Given the description of an element on the screen output the (x, y) to click on. 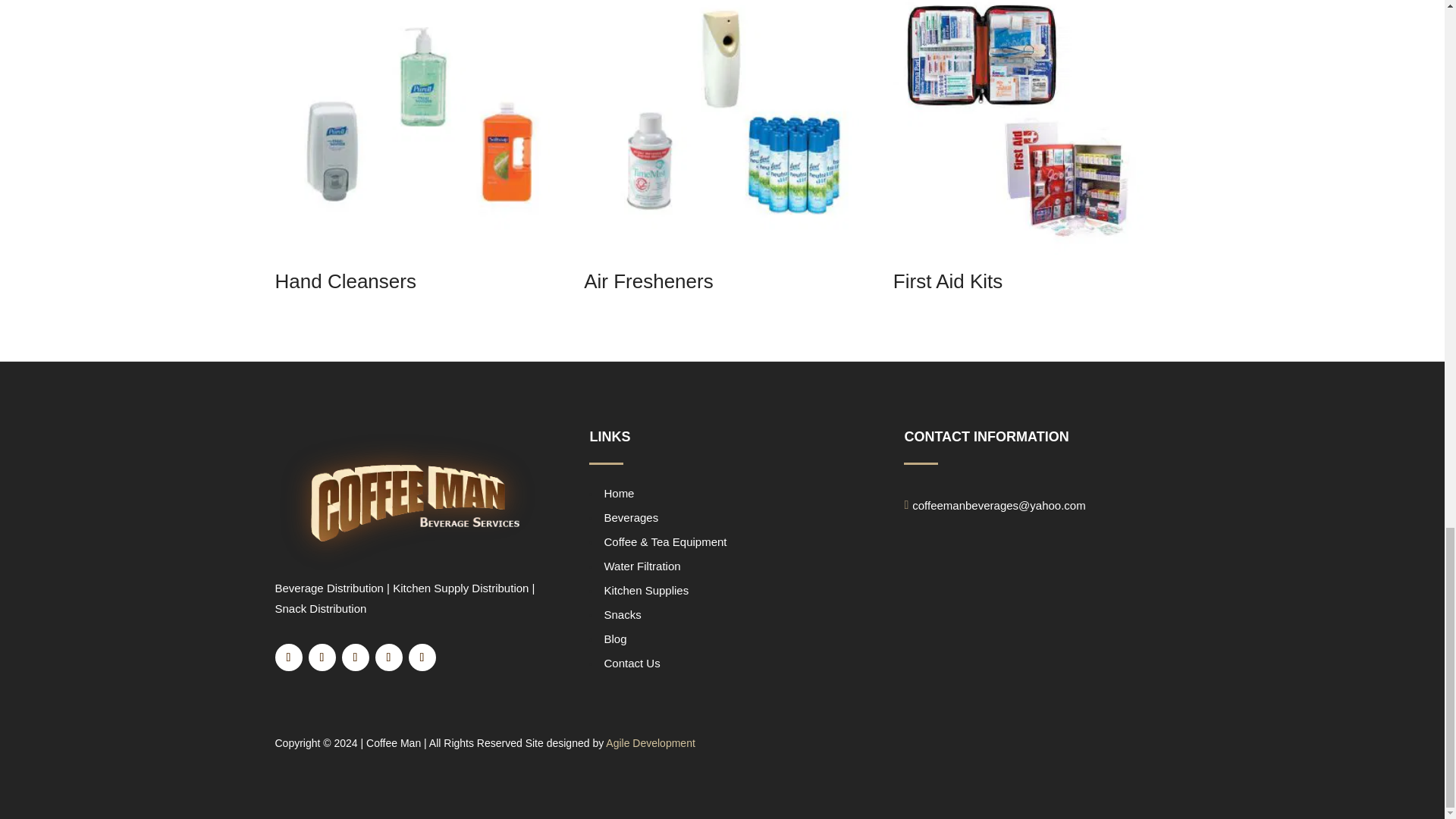
Air Fresheners (721, 150)
Water Filtration (641, 565)
Agile Development (650, 743)
Hand Cleansers (412, 150)
Follow on Pinterest (421, 656)
Follow on X (320, 656)
Home (618, 492)
Follow on Instagram (354, 656)
First Aid Kits (1031, 150)
Beverages (631, 517)
